Given the description of an element on the screen output the (x, y) to click on. 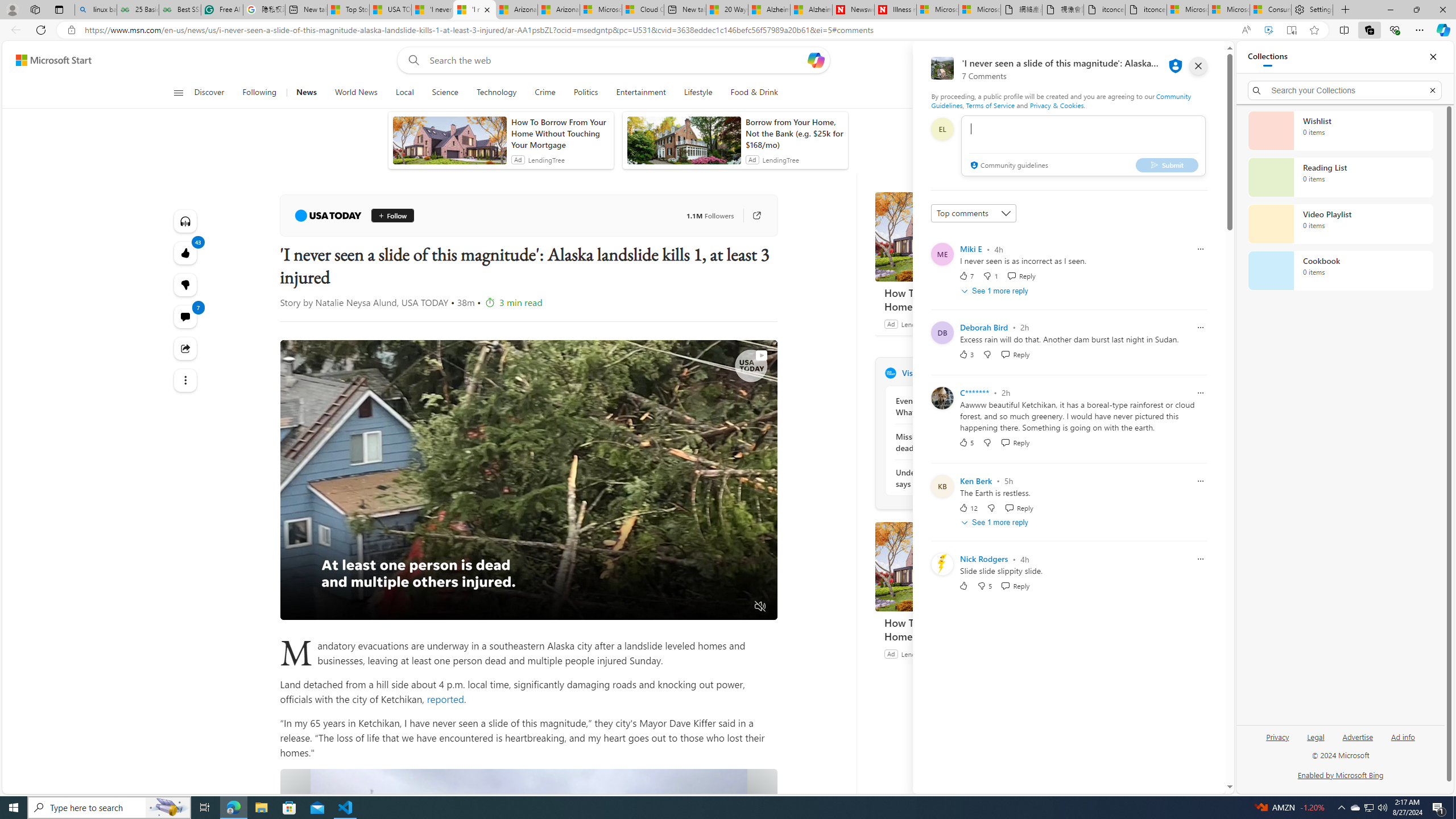
C******* (974, 392)
View on Watch (761, 355)
Listen to this article (184, 220)
comment-box (1082, 145)
Submit (1166, 164)
Terms of Service (989, 104)
43 Like (184, 252)
